Given the description of an element on the screen output the (x, y) to click on. 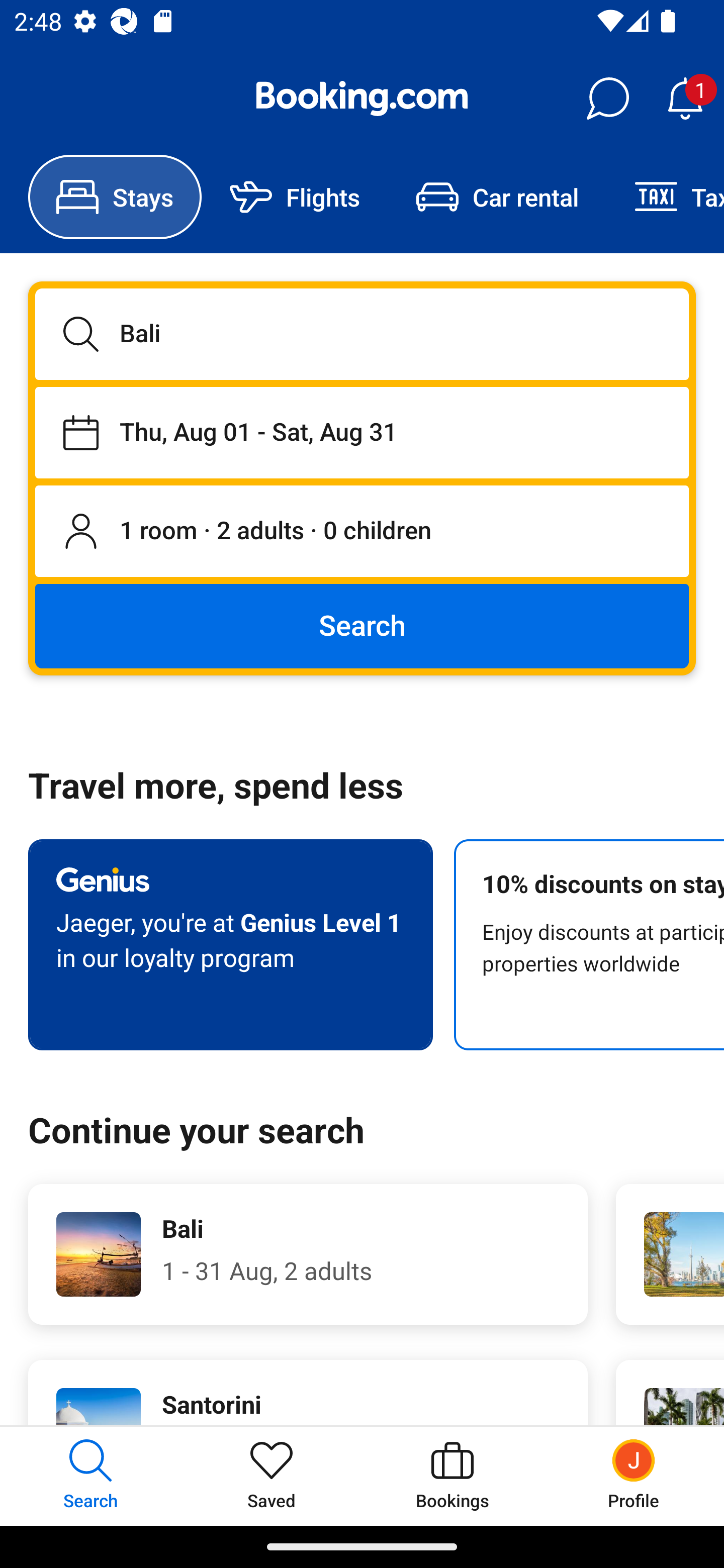
Messages (607, 98)
Notifications (685, 98)
Stays (114, 197)
Flights (294, 197)
Car rental (497, 197)
Taxi (665, 197)
Bali (361, 333)
Staying from Thu, Aug 01 until Sat, Aug 31 (361, 432)
1 room, 2 adults, 0 children (361, 531)
Search (361, 625)
Bali 1 - 31 Aug, 2 adults (307, 1253)
Saved (271, 1475)
Bookings (452, 1475)
Profile (633, 1475)
